Given the description of an element on the screen output the (x, y) to click on. 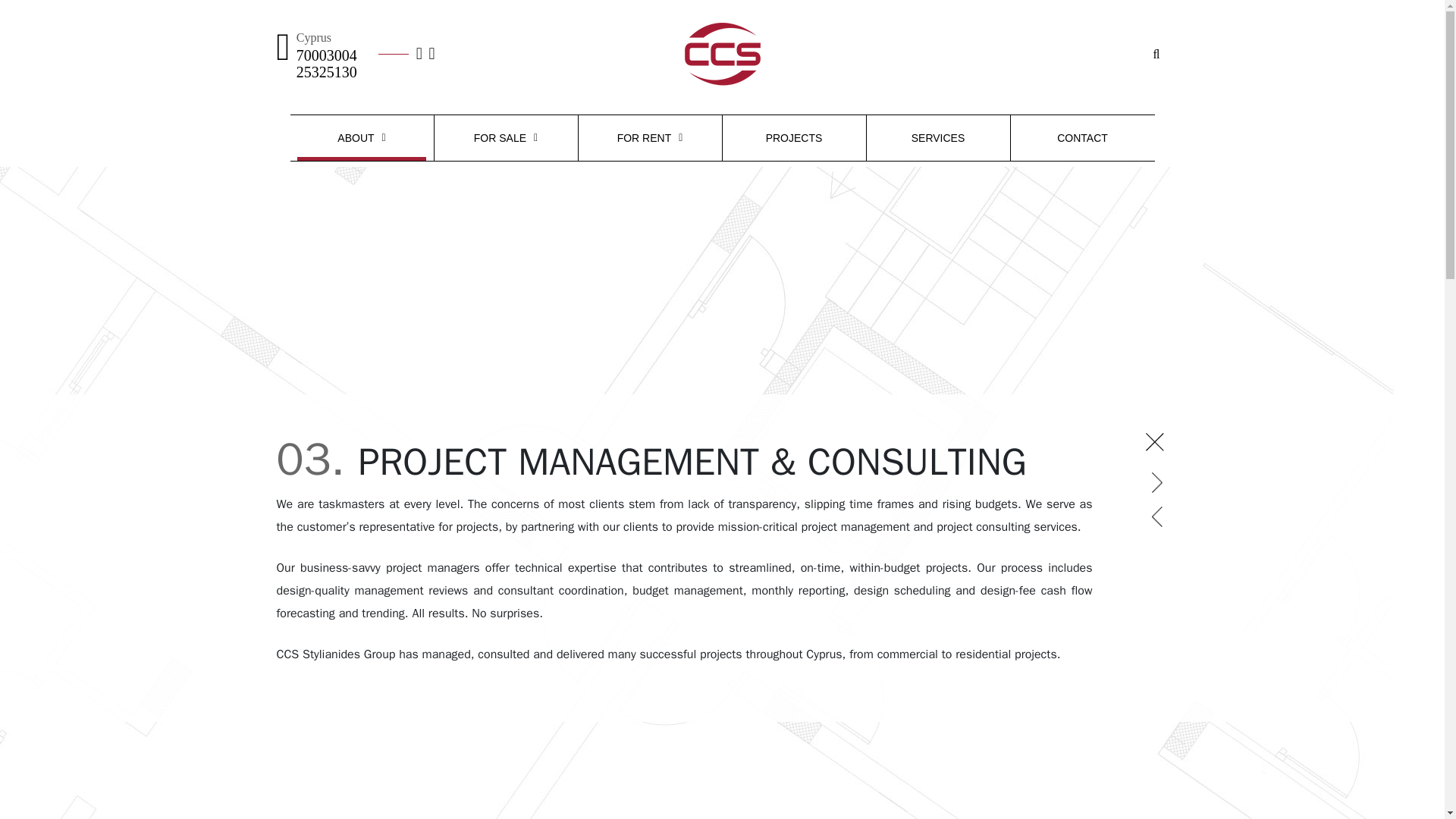
FOR SALE (504, 137)
SERVICES (937, 137)
Cyprus (314, 37)
CONTACT (1082, 137)
FOR RENT (649, 137)
PROJECTS (793, 137)
ABOUT (360, 137)
